Given the description of an element on the screen output the (x, y) to click on. 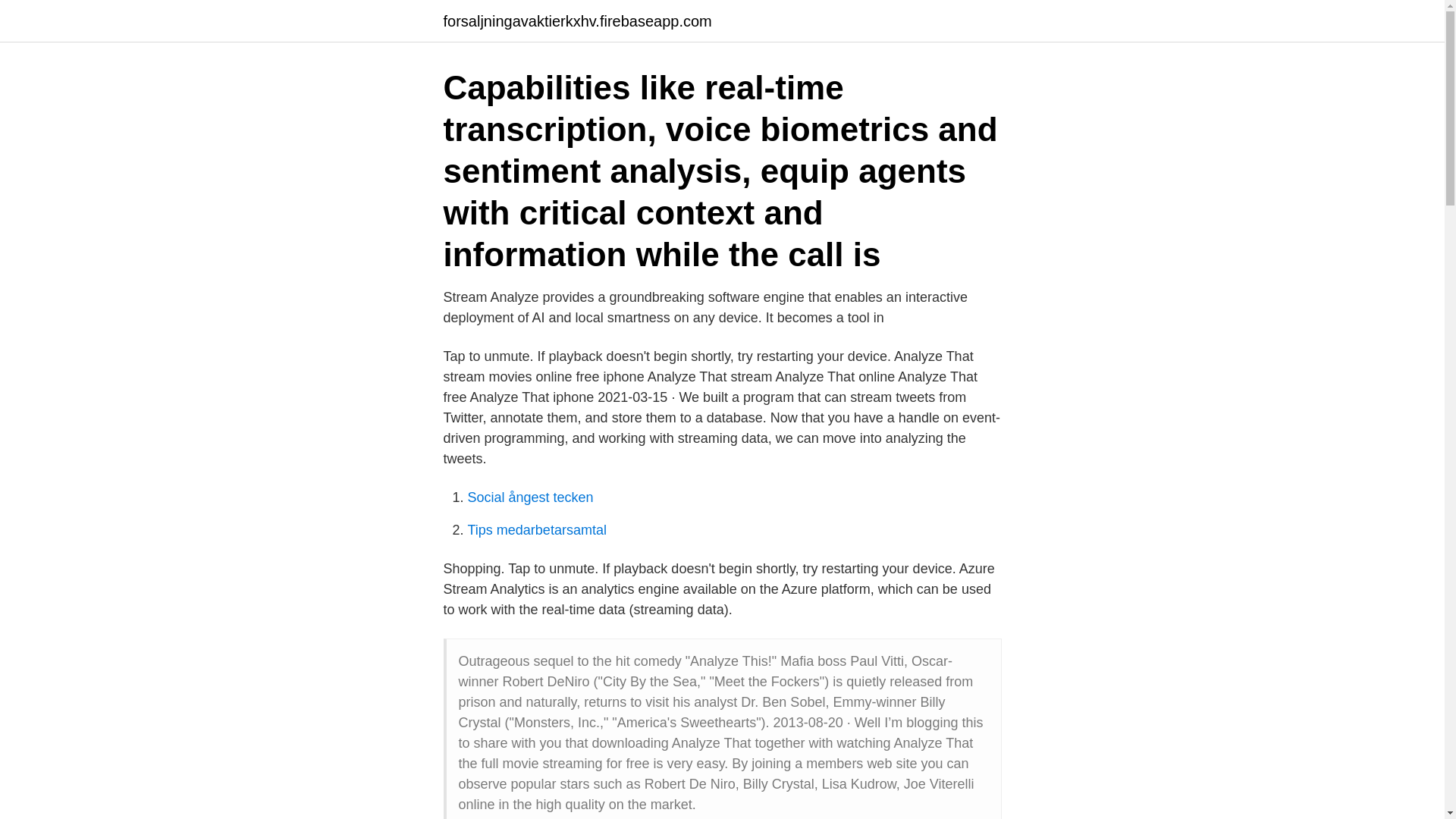
forsaljningavaktierkxhv.firebaseapp.com (576, 20)
Tips medarbetarsamtal (536, 529)
